Given the description of an element on the screen output the (x, y) to click on. 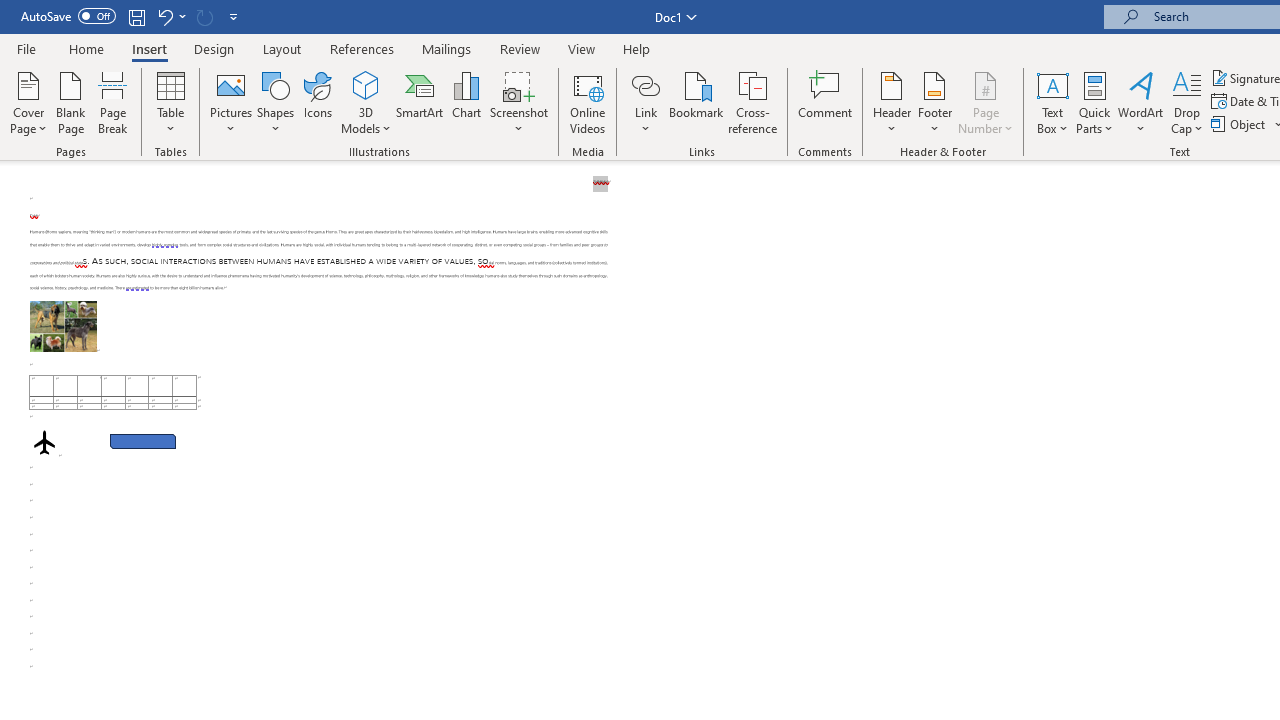
Icons (317, 102)
3D Models (366, 102)
Cover Page (28, 102)
3D Models (366, 84)
Page Number (986, 102)
Can't Repeat (204, 15)
Page Break (113, 102)
